Given the description of an element on the screen output the (x, y) to click on. 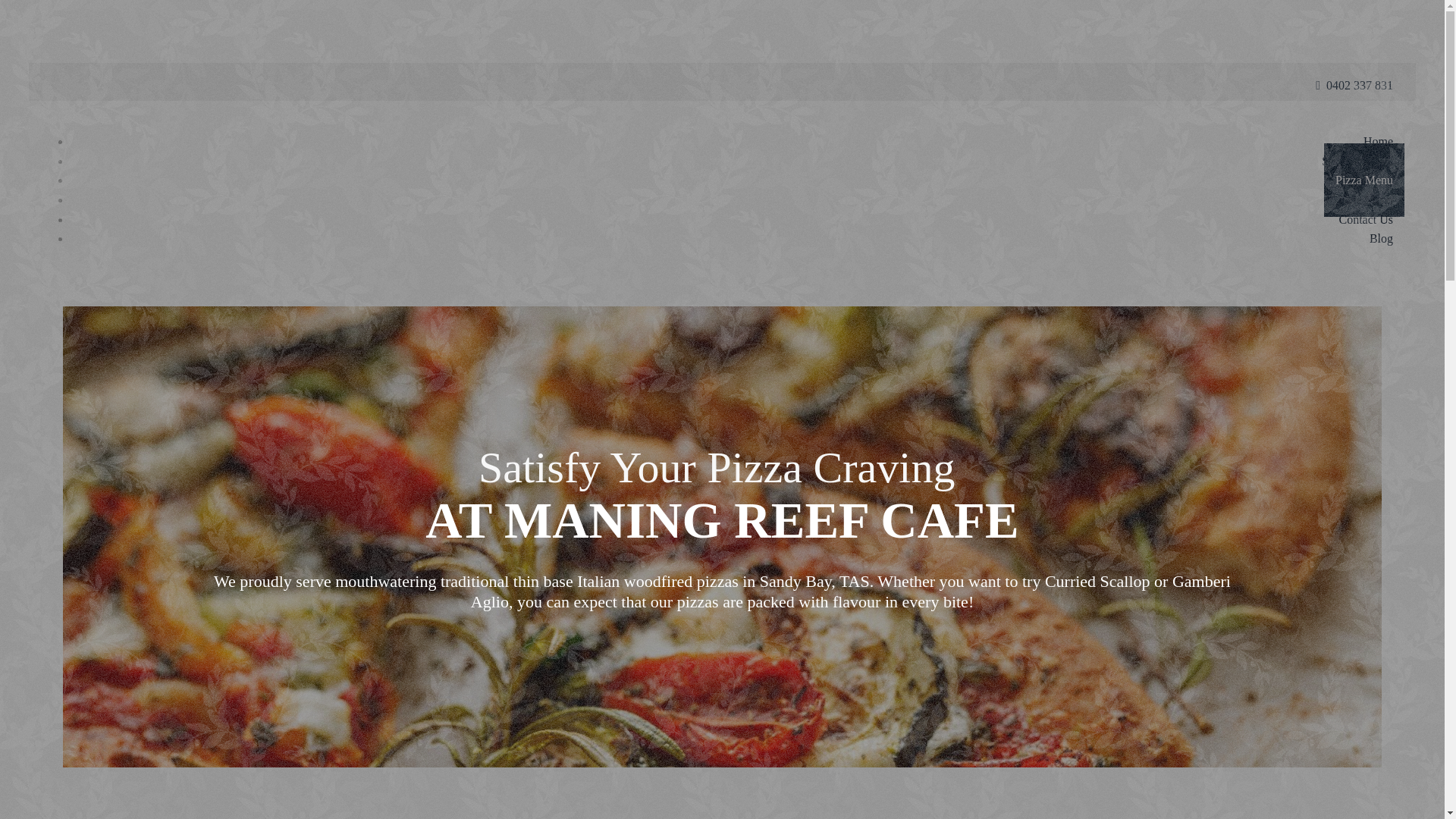
Cafe Menu Element type: text (1365, 199)
Contact Us Element type: text (1365, 219)
Seafood Menu Element type: text (1357, 160)
Pizza Menu Element type: text (1364, 179)
Blog Element type: text (1381, 238)
Home Element type: text (1378, 141)
0402 337 831 Element type: text (1359, 84)
